Given the description of an element on the screen output the (x, y) to click on. 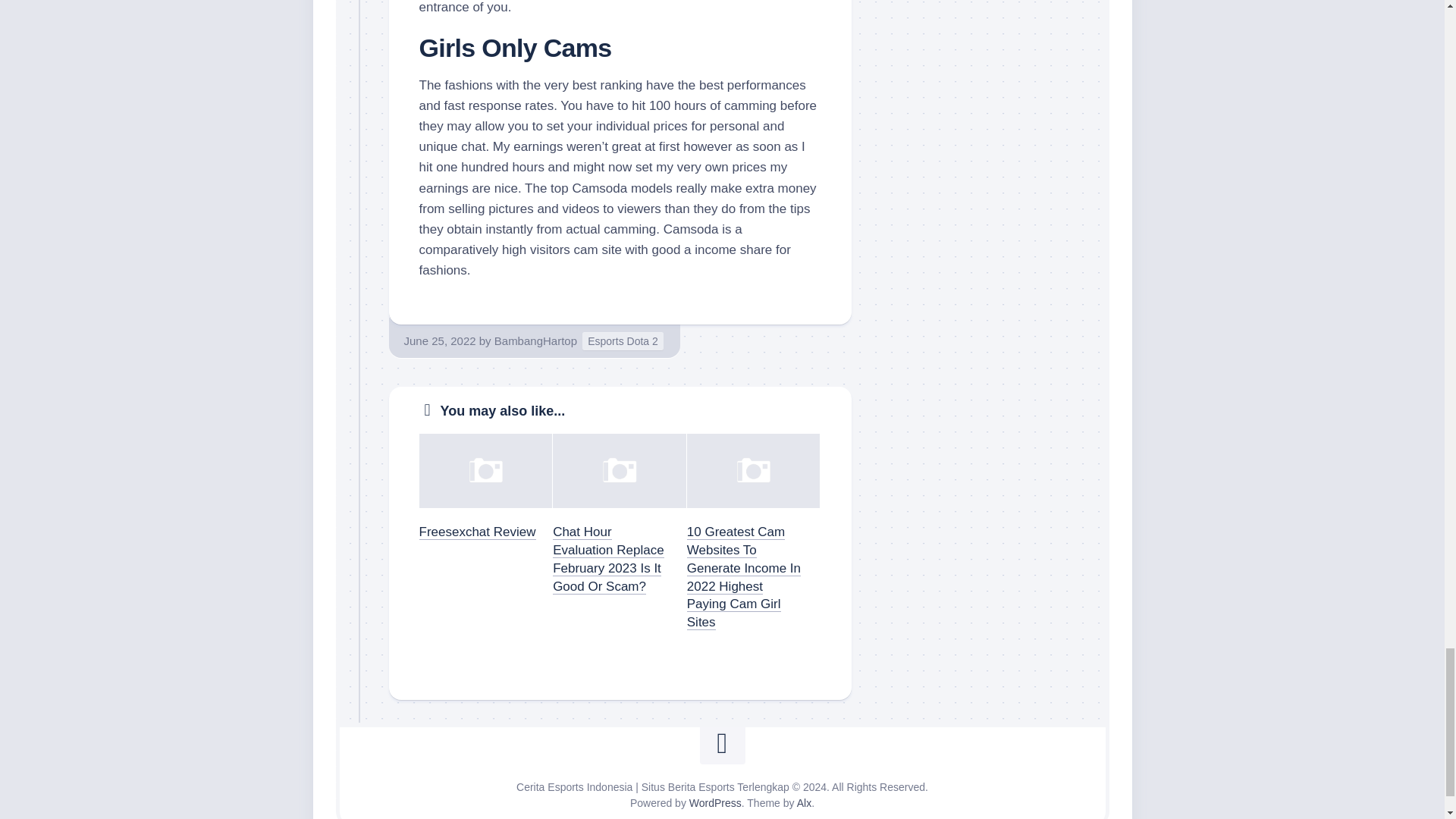
Posts by BambangHartop (535, 340)
Esports Dota 2 (622, 341)
Freesexchat Review (477, 531)
BambangHartop (535, 340)
